Given the description of an element on the screen output the (x, y) to click on. 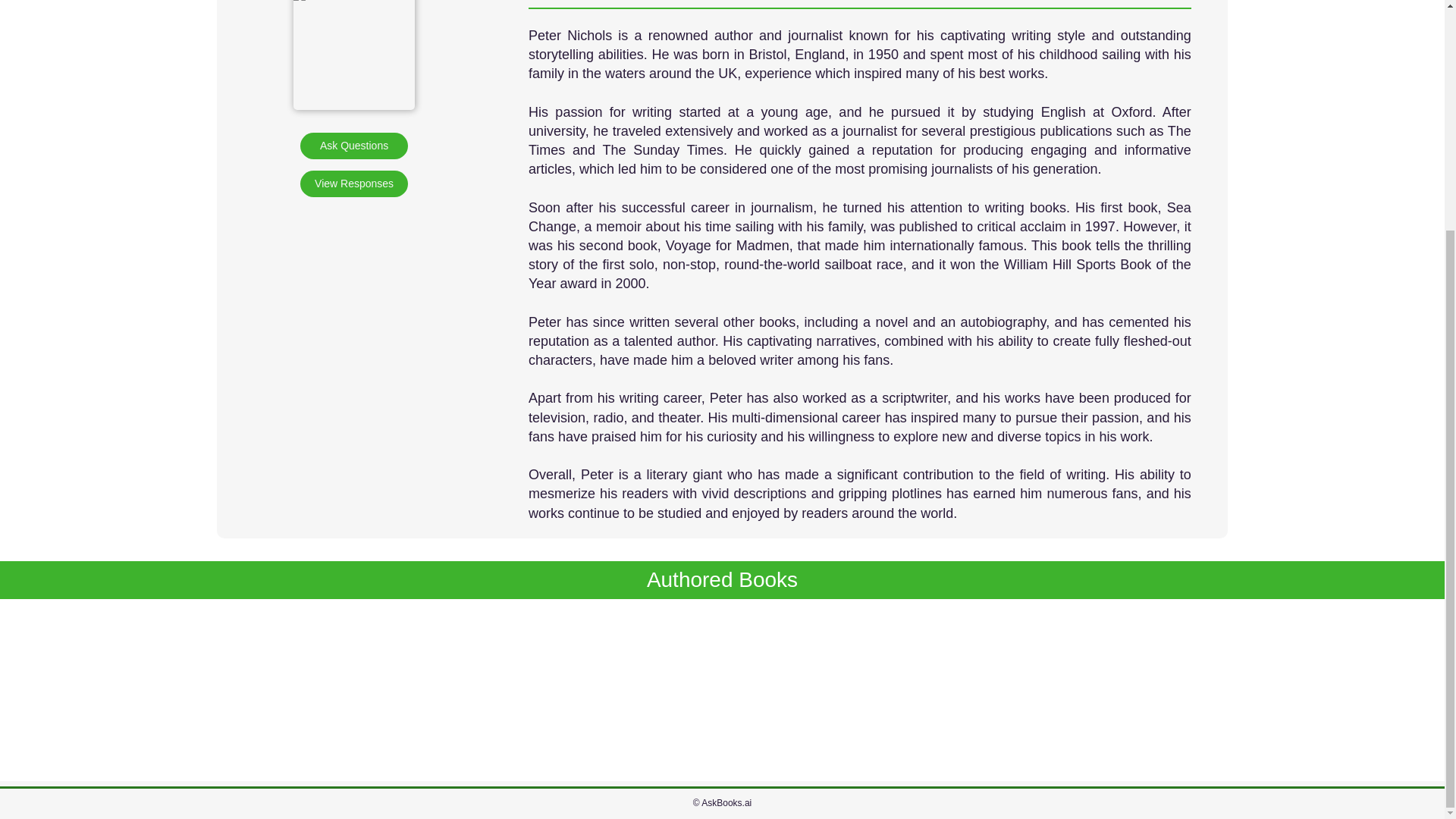
Ask Questions (353, 145)
View Responses (353, 183)
